Given the description of an element on the screen output the (x, y) to click on. 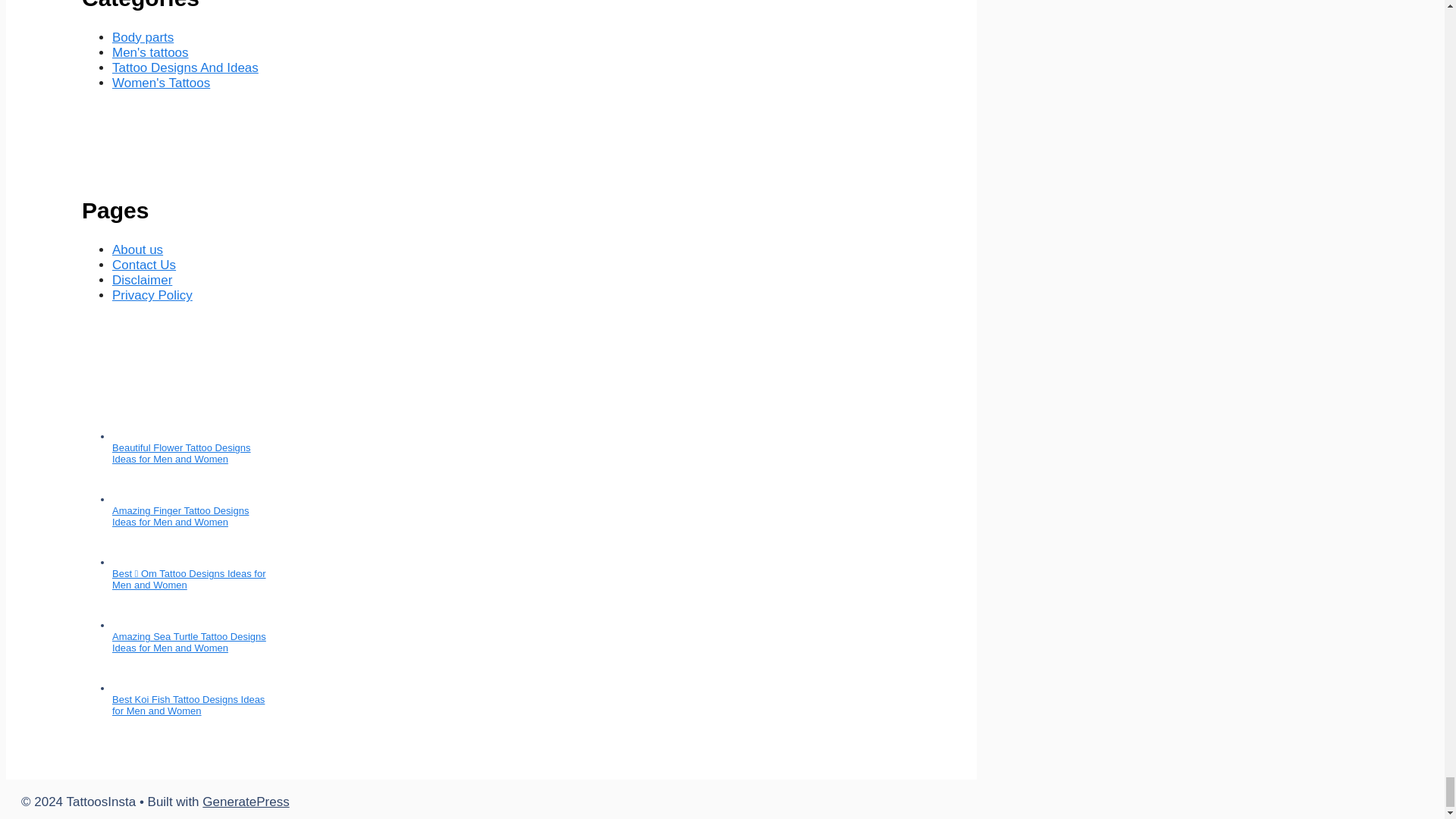
Women's Tattoos (160, 83)
About us (137, 249)
Privacy Policy (152, 295)
Body parts (142, 37)
Disclaimer (141, 279)
GeneratePress (245, 801)
Beautiful Flower Tattoo Designs Ideas for Men and Women (181, 453)
Tattoo Designs And Ideas (185, 67)
Amazing Sea Turtle Tattoo Designs Ideas for Men and Women (189, 641)
Best Koi Fish Tattoo Designs Ideas for Men and Women (188, 704)
Contact Us (144, 264)
Amazing Finger Tattoo Designs Ideas for Men and Women (180, 516)
Men's tattoos (150, 52)
